Given the description of an element on the screen output the (x, y) to click on. 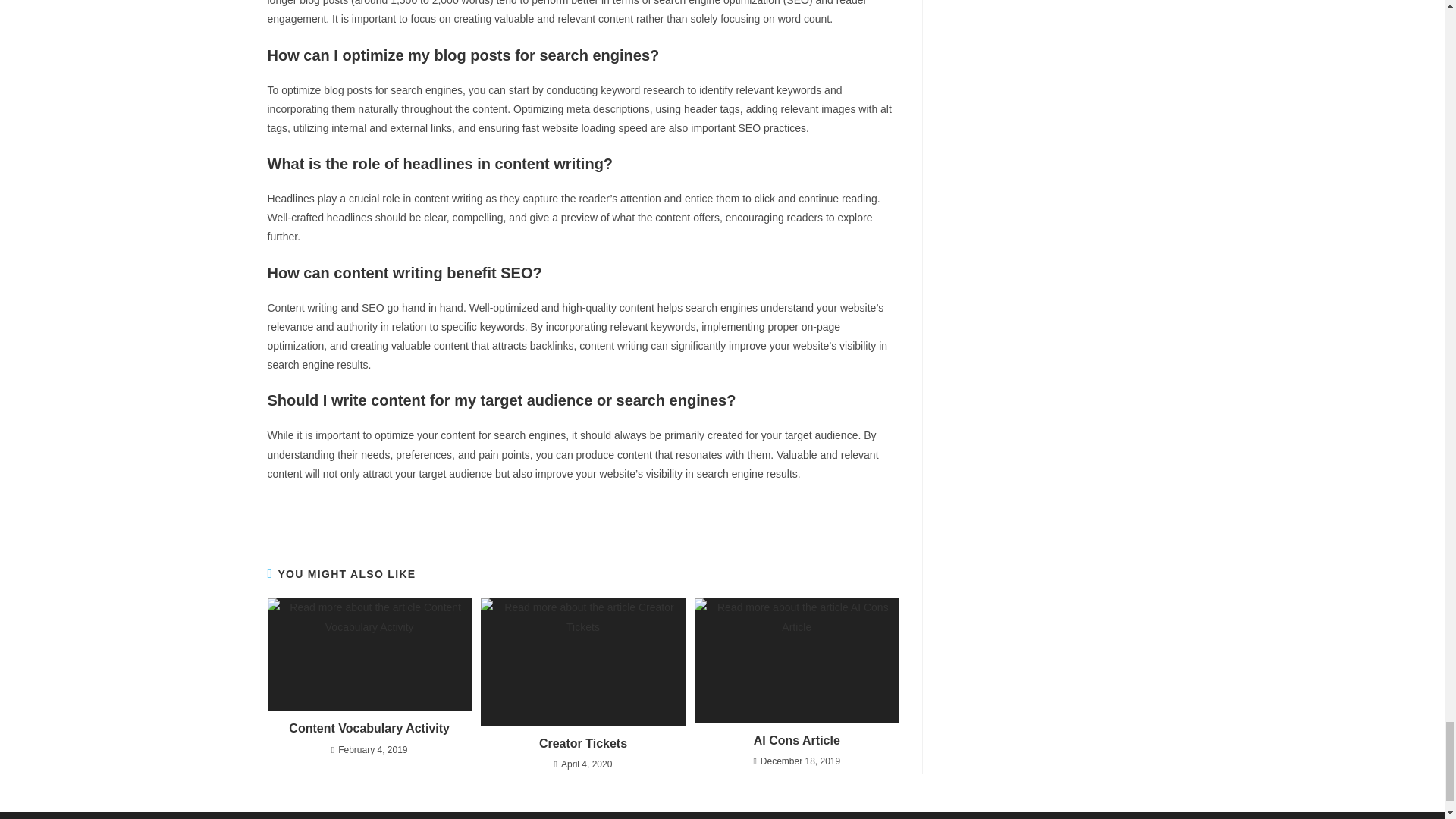
Creator Tickets (582, 743)
AI Cons Article (796, 740)
Content Vocabulary Activity (368, 728)
